Given the description of an element on the screen output the (x, y) to click on. 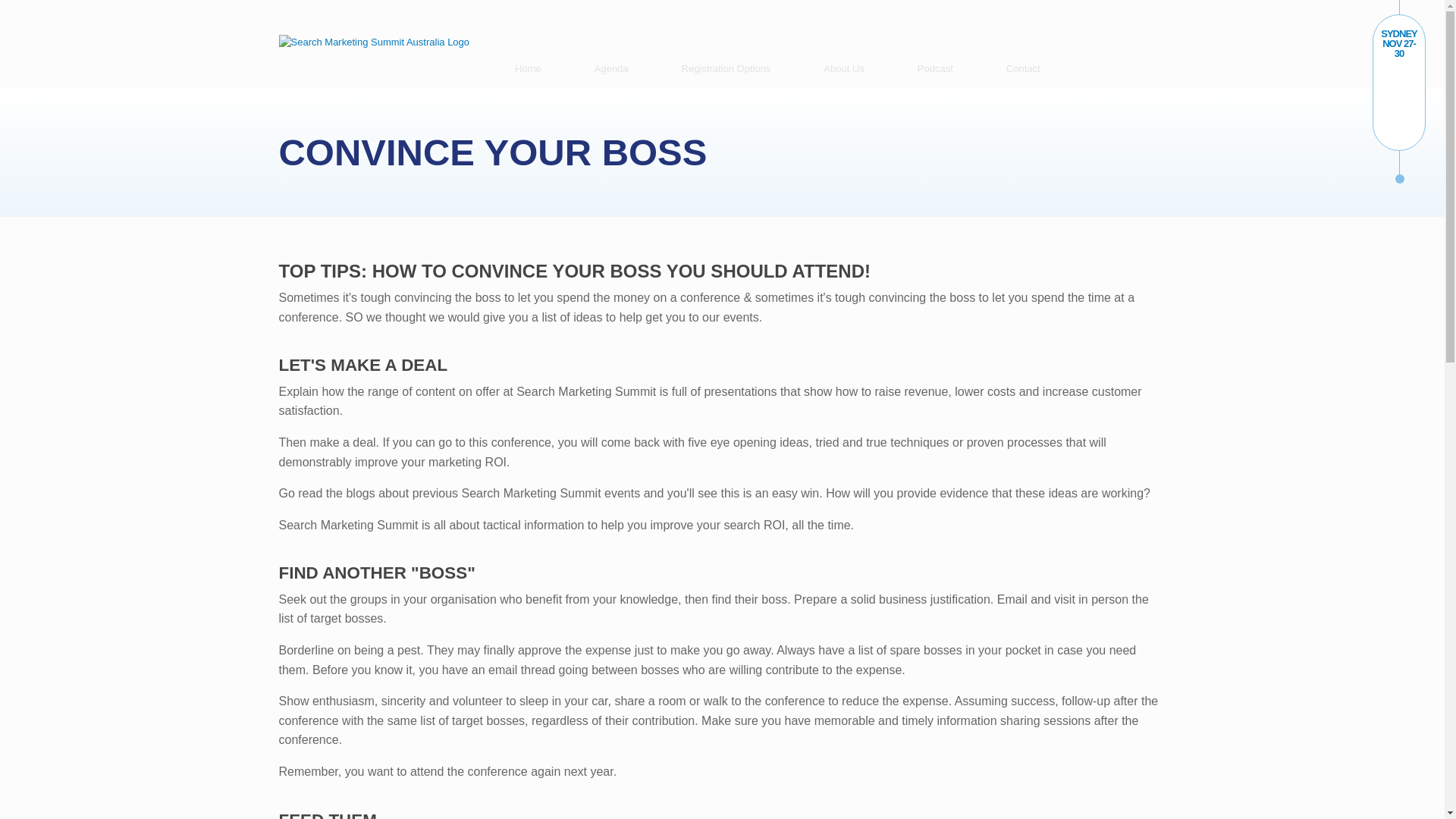
Contact (1023, 68)
About Us (842, 68)
Podcast (935, 68)
Search Marketing Summit Australia (374, 41)
Registration Options (726, 68)
Home (527, 68)
Agenda (611, 68)
